Given the description of an element on the screen output the (x, y) to click on. 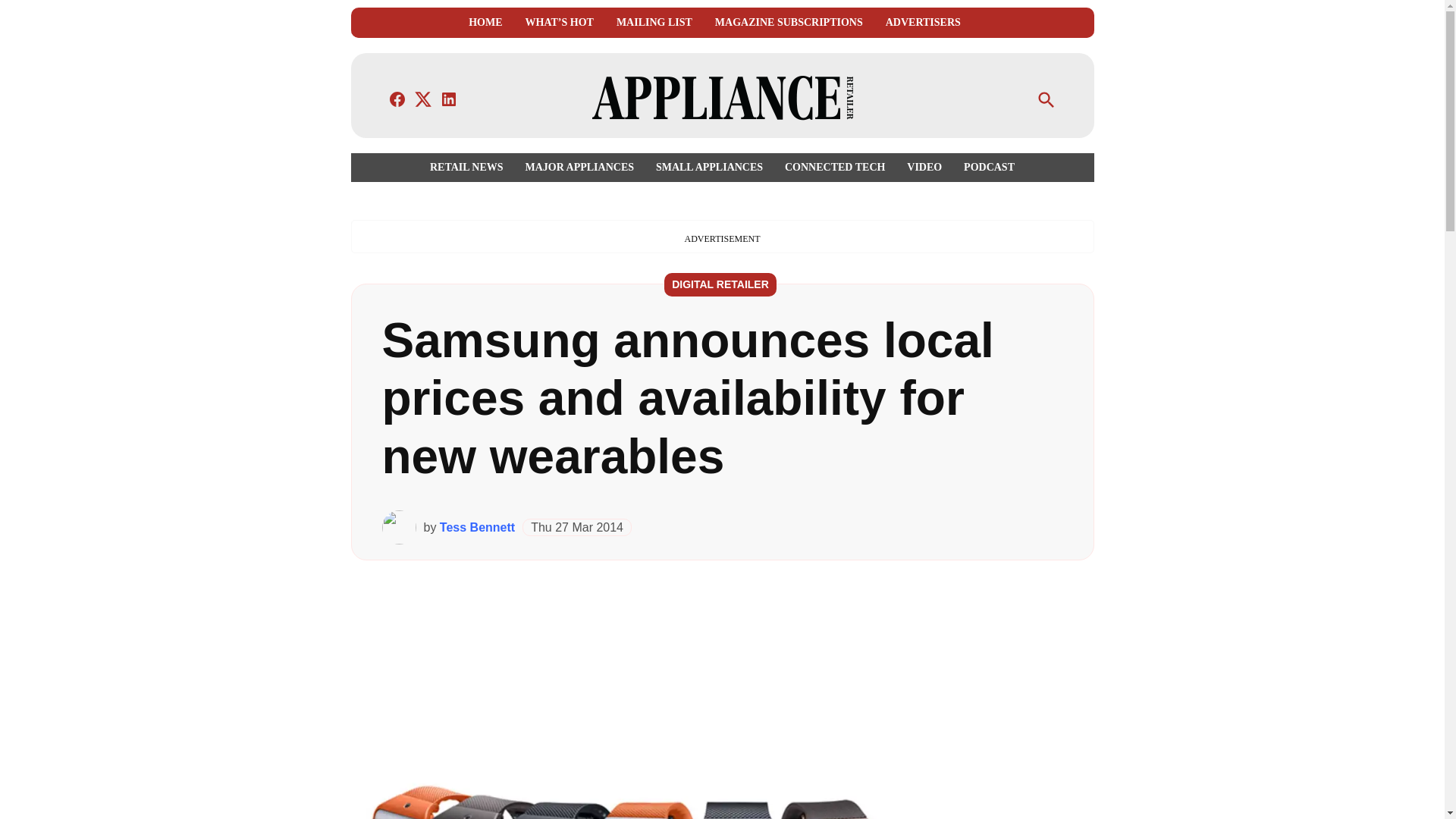
HOME (484, 22)
CONNECTED TECH (834, 167)
LINKEDIN (448, 99)
MAGAZINE SUBSCRIPTIONS (788, 22)
FACEBOOK (397, 99)
TWITTER (422, 99)
SMALL APPLIANCES (708, 167)
DIGITAL RETAILER (720, 284)
PODCAST (985, 167)
